Given the description of an element on the screen output the (x, y) to click on. 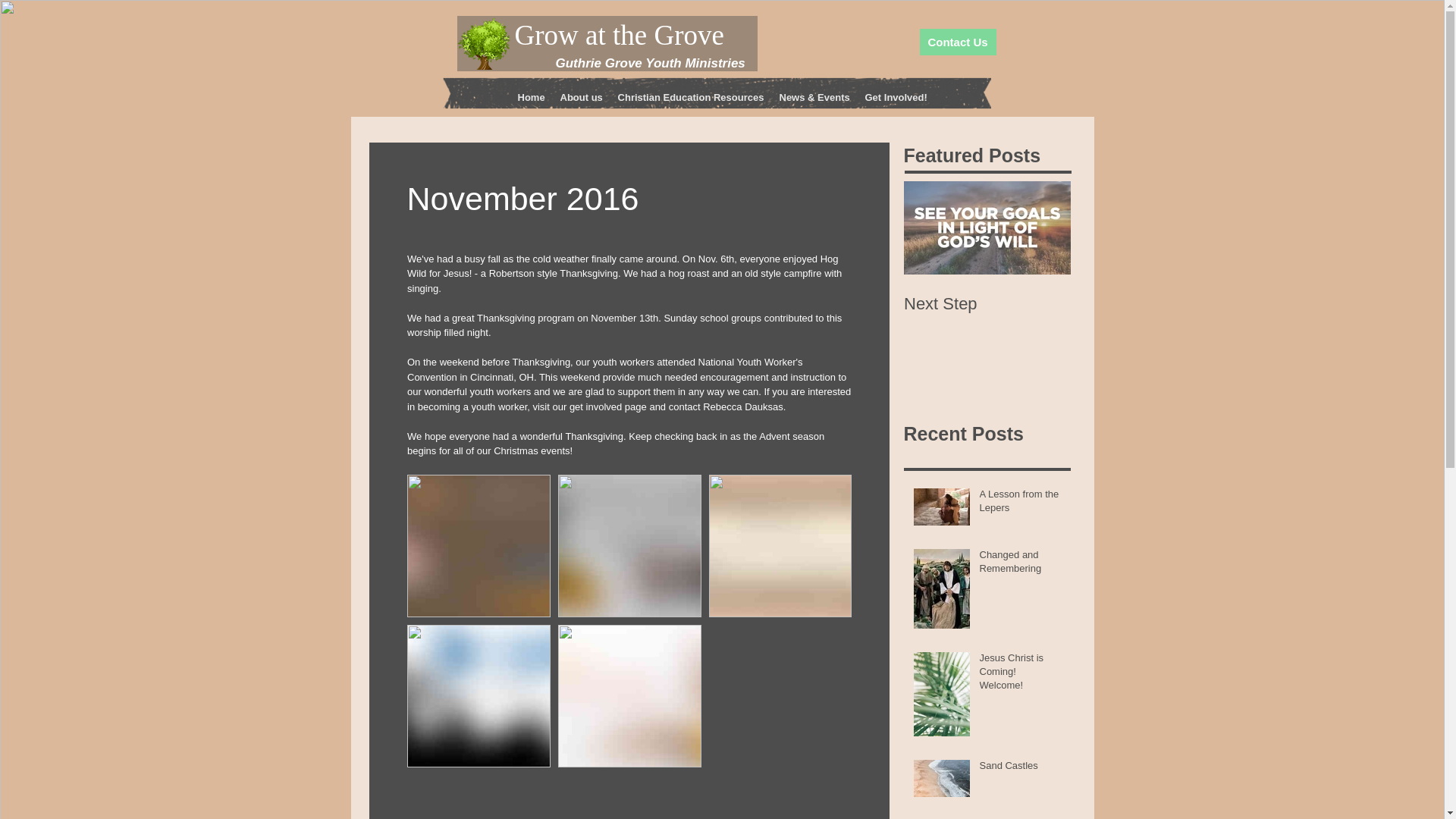
Christian Education Resources (690, 97)
Get Involved! (895, 97)
A Lesson from the Lepers (1020, 503)
Next Step (987, 303)
tree.png (483, 42)
Home (530, 97)
Grow at the Grove (618, 34)
About us (580, 97)
Changed and Remembering (1020, 564)
Jesus Christ is Coming! Welcome! (1020, 675)
